Given the description of an element on the screen output the (x, y) to click on. 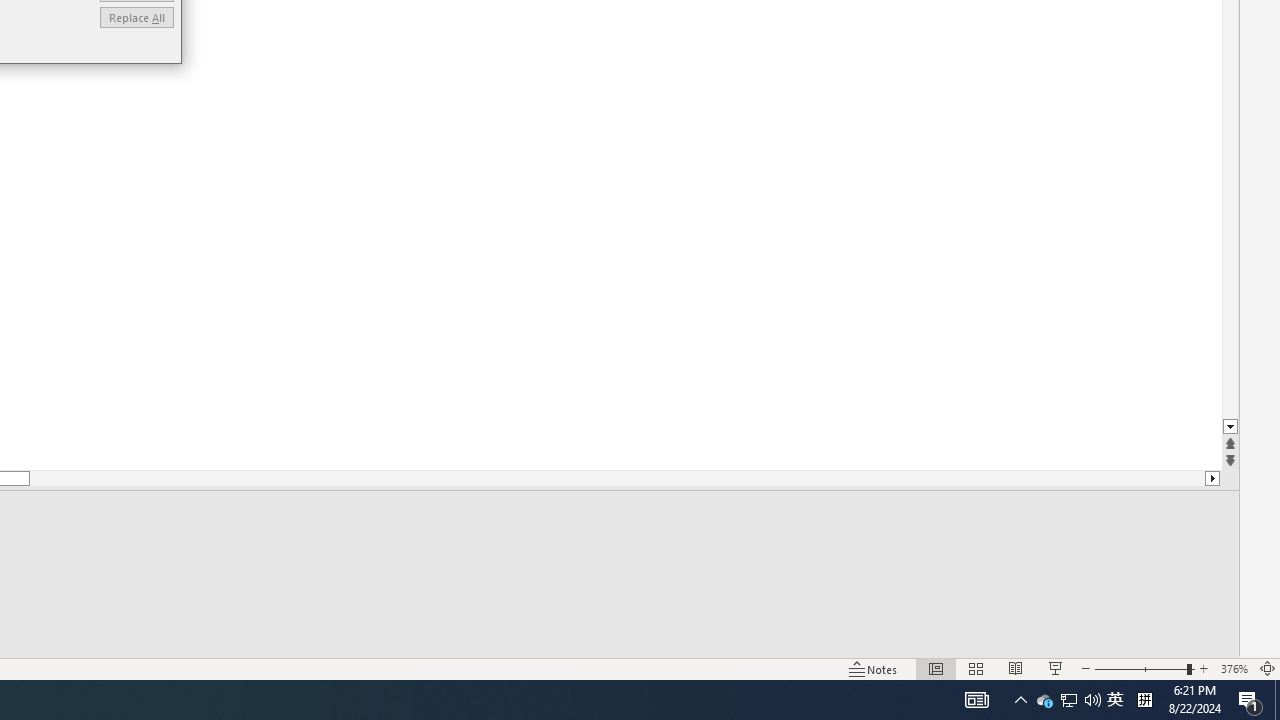
Replace All (136, 16)
